Given the description of an element on the screen output the (x, y) to click on. 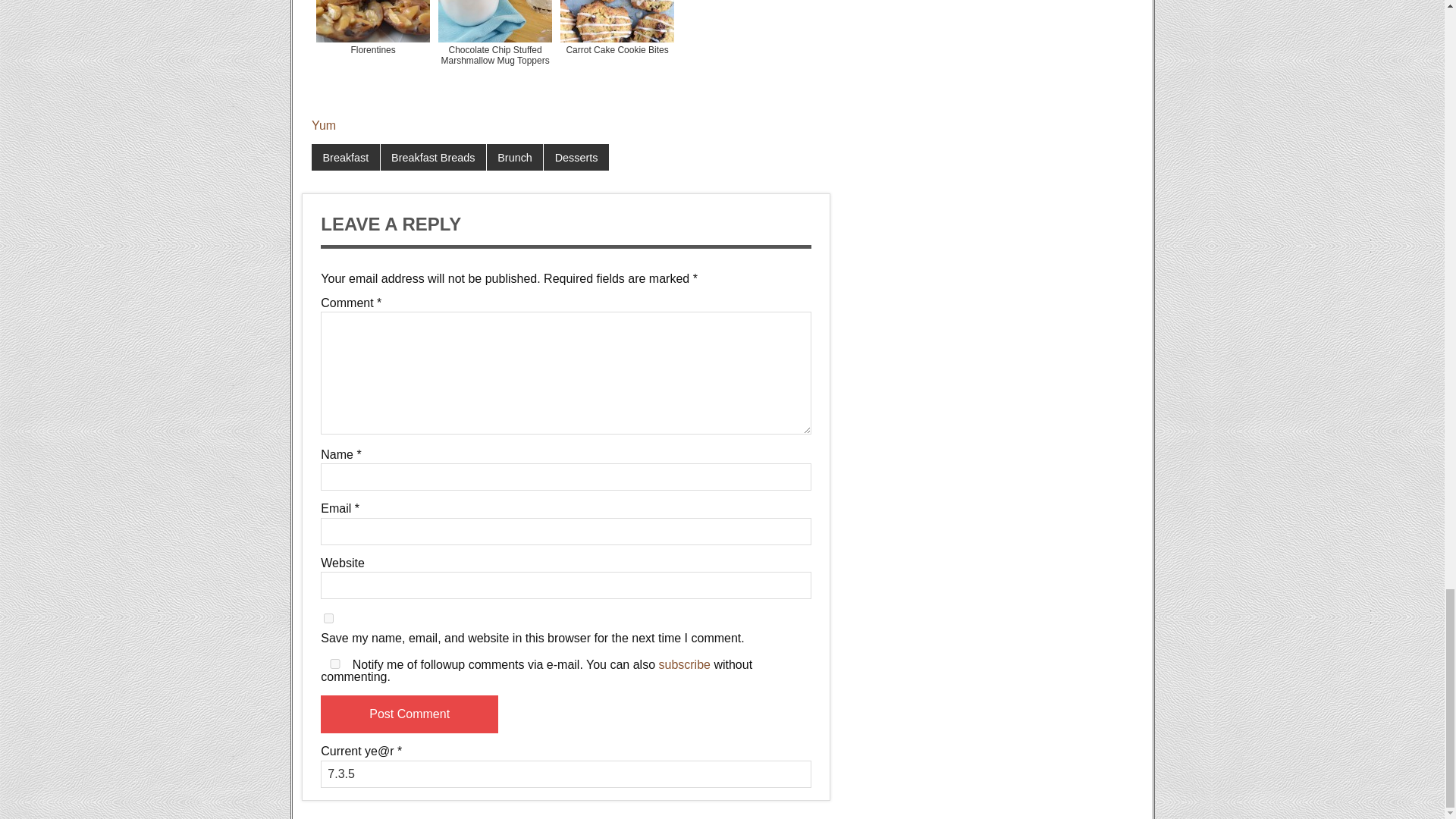
Desserts (575, 157)
Breakfast Breads (433, 157)
Yum (323, 124)
Chocolate Chip Stuffed Marshmallow Mug Toppers (494, 52)
Post Comment (408, 714)
subscribe (684, 664)
Post Comment (408, 714)
yes (334, 664)
Brunch (514, 157)
Breakfast (345, 157)
Carrot Cake Cookie Bites (617, 52)
Florentines (372, 52)
yes (328, 618)
7.3.5 (565, 773)
